Given the description of an element on the screen output the (x, y) to click on. 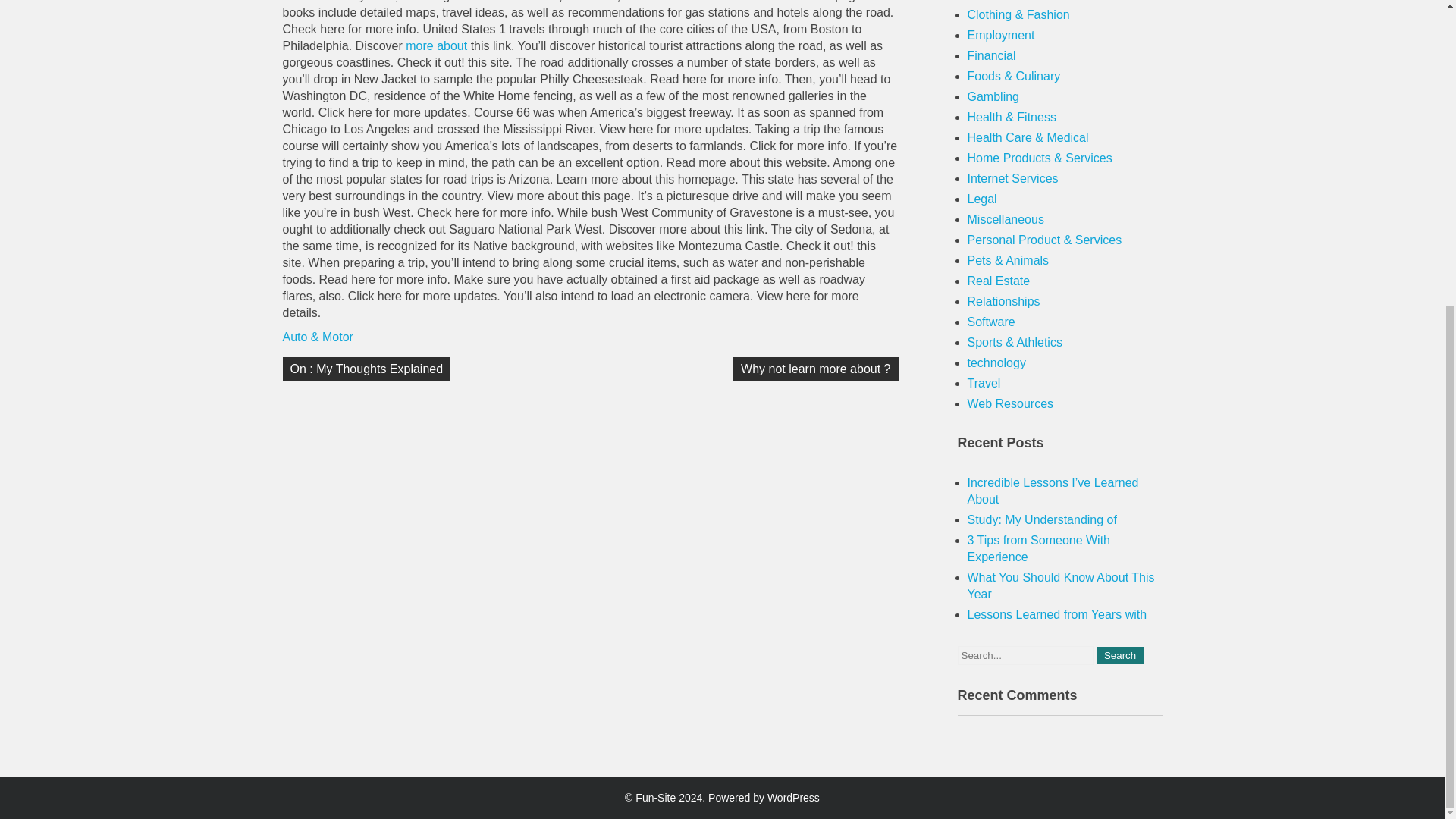
Legal (982, 198)
Miscellaneous (1005, 219)
On : My Thoughts Explained (365, 369)
Internet Services (1013, 178)
Gambling (993, 96)
more about (438, 45)
Employment (1001, 34)
Search (1119, 655)
Financial (992, 55)
Search (1119, 655)
